Given the description of an element on the screen output the (x, y) to click on. 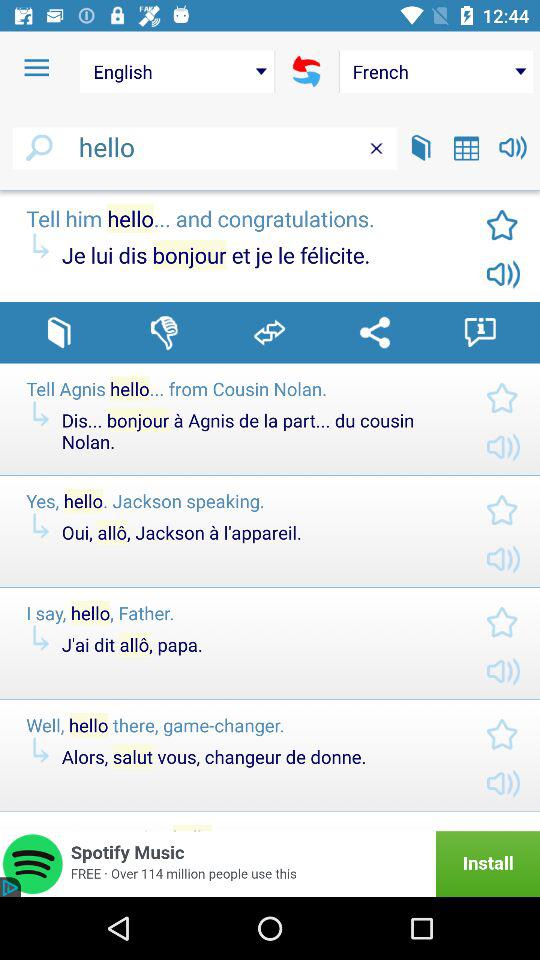
volume (512, 147)
